Given the description of an element on the screen output the (x, y) to click on. 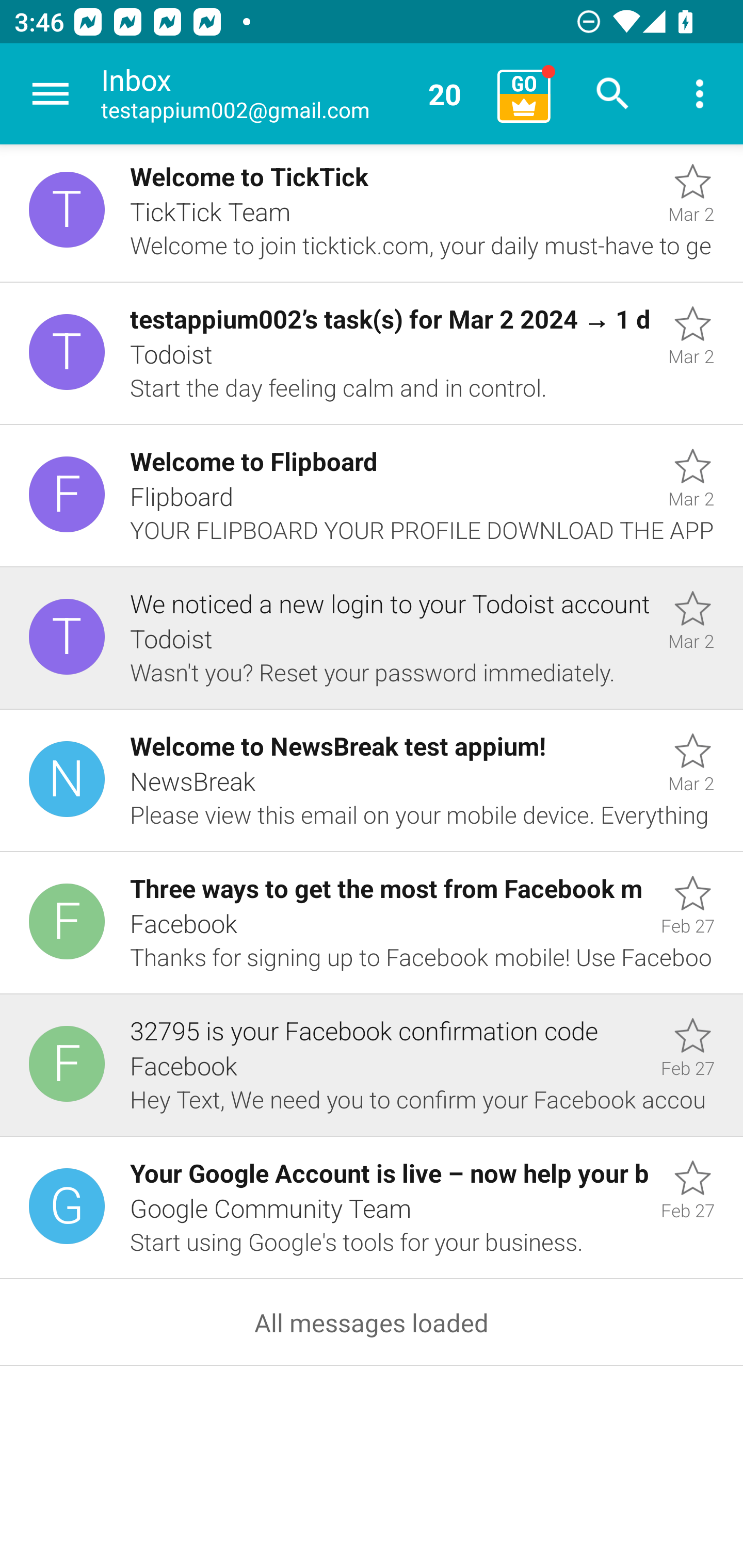
Navigate up (50, 93)
Inbox testappium002@gmail.com 20 (291, 93)
Search (612, 93)
More options (699, 93)
All messages loaded (371, 1322)
